Given the description of an element on the screen output the (x, y) to click on. 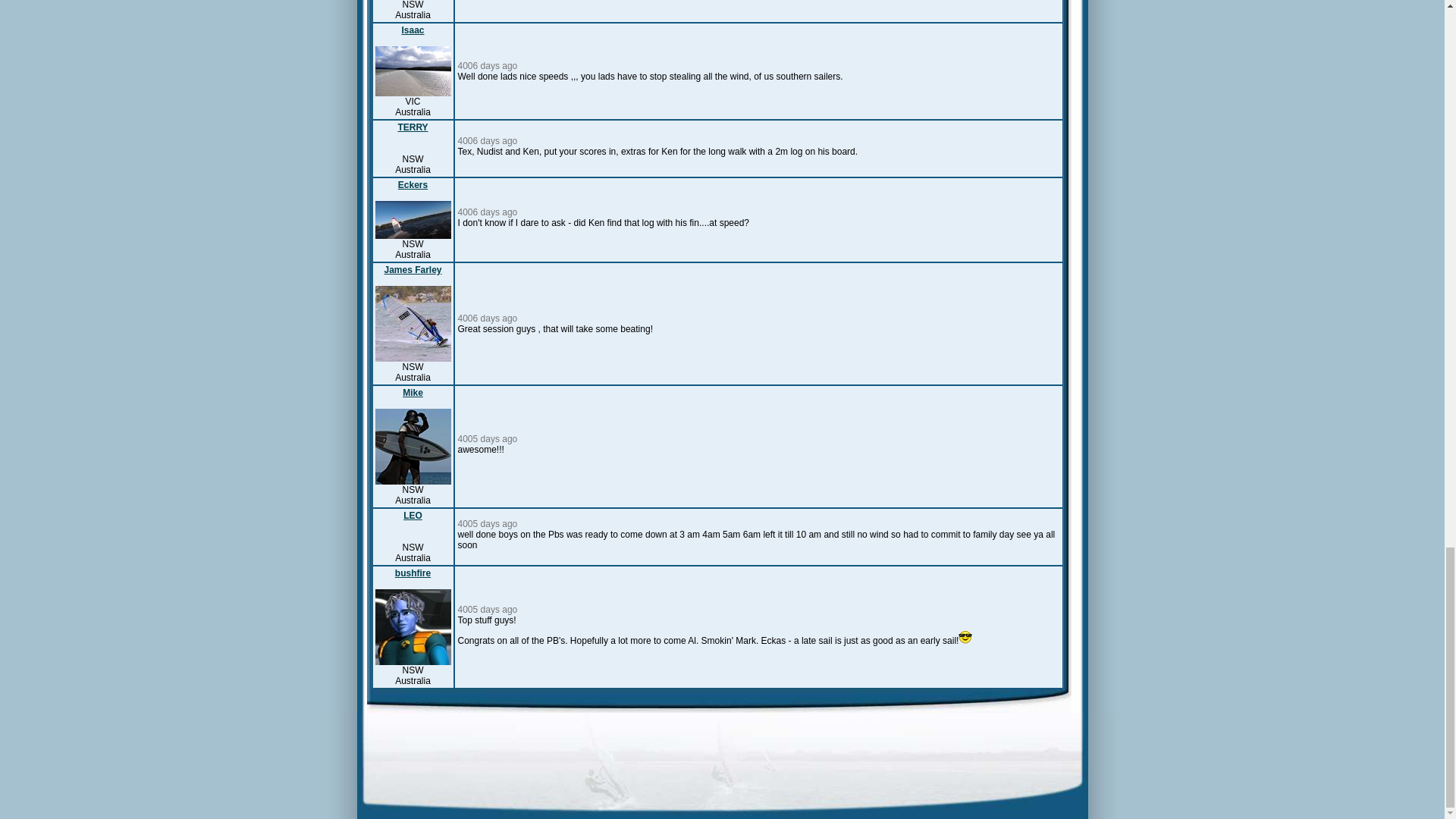
Cool (965, 636)
